Given the description of an element on the screen output the (x, y) to click on. 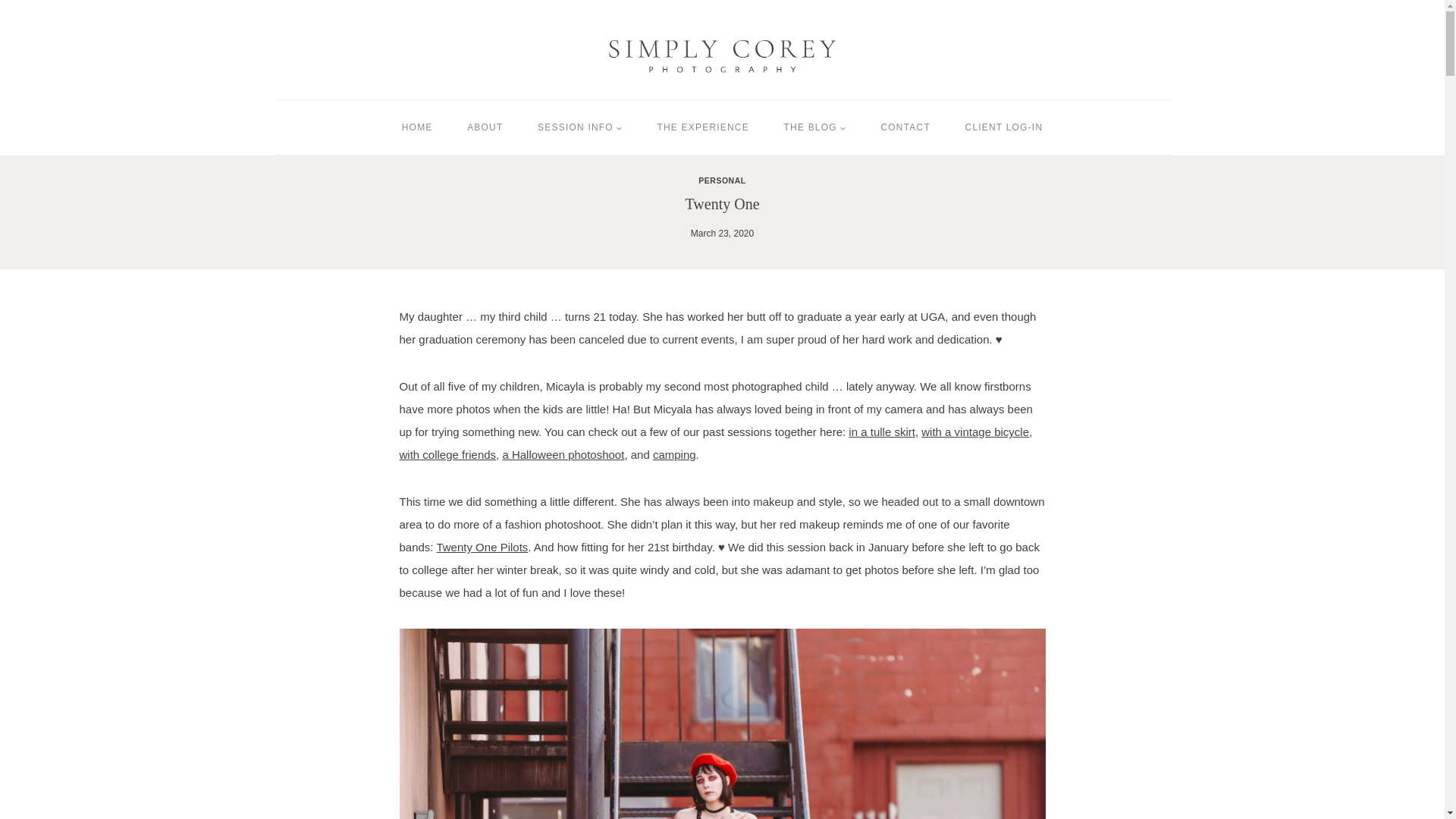
SESSION INFO (579, 126)
CONTACT (905, 126)
THE BLOG (815, 126)
CLIENT LOG-IN (1003, 126)
with college friends (447, 454)
a Halloween photoshoot (563, 454)
camping (673, 454)
ABOUT (484, 126)
Twenty One Pilots (481, 546)
with a vintage bicycle (975, 431)
HOME (416, 126)
PERSONAL (721, 180)
in a tulle skirt (881, 431)
THE EXPERIENCE (703, 126)
